Given the description of an element on the screen output the (x, y) to click on. 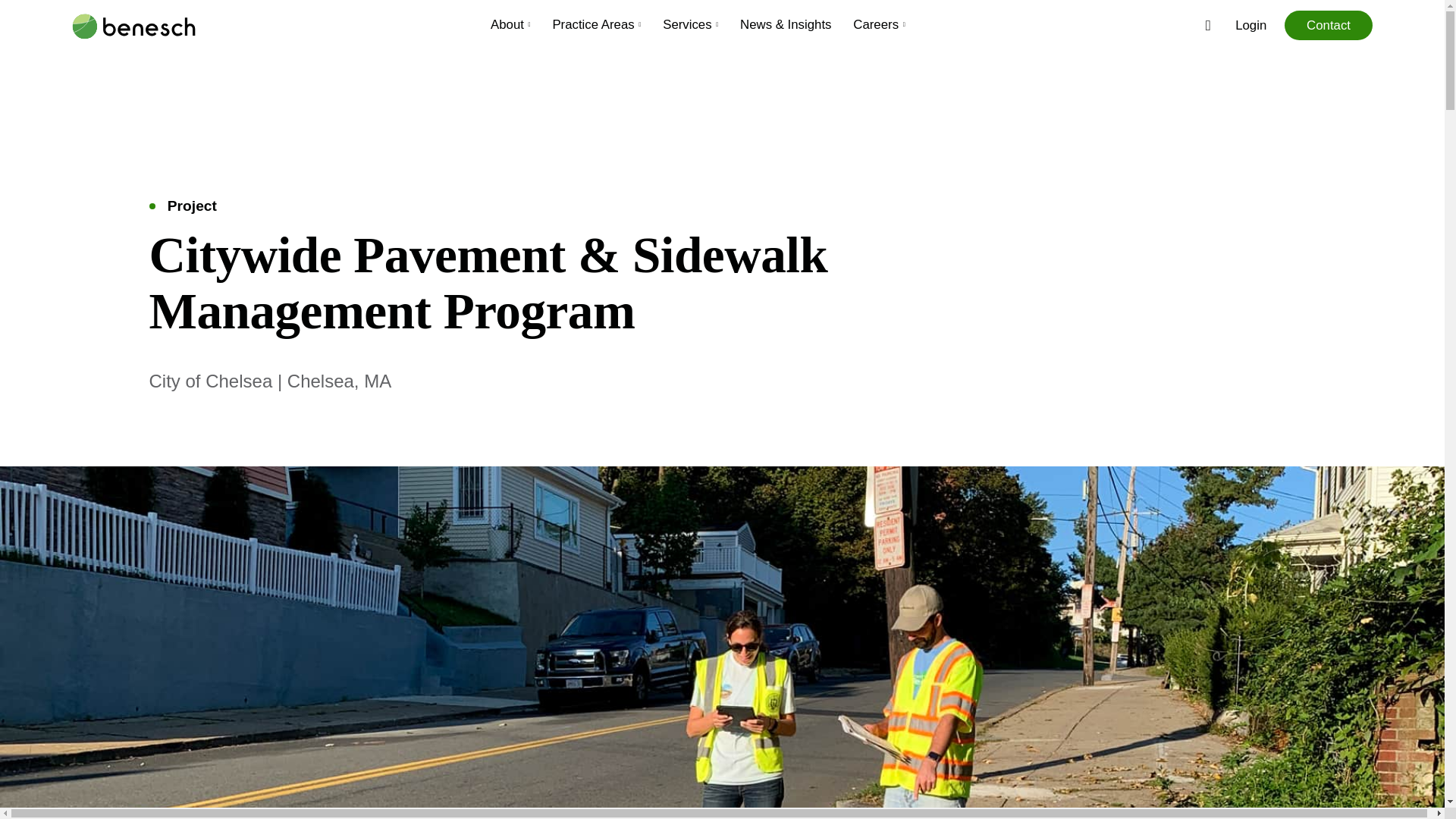
Education (853, 169)
Explore All Services (213, 243)
Roadways (593, 229)
Community Planning (853, 139)
Leadership (918, 104)
Design (853, 134)
Construction Management (853, 104)
Potable Water (1114, 169)
Alternative Delivery (588, 134)
Transit (593, 258)
